Given the description of an element on the screen output the (x, y) to click on. 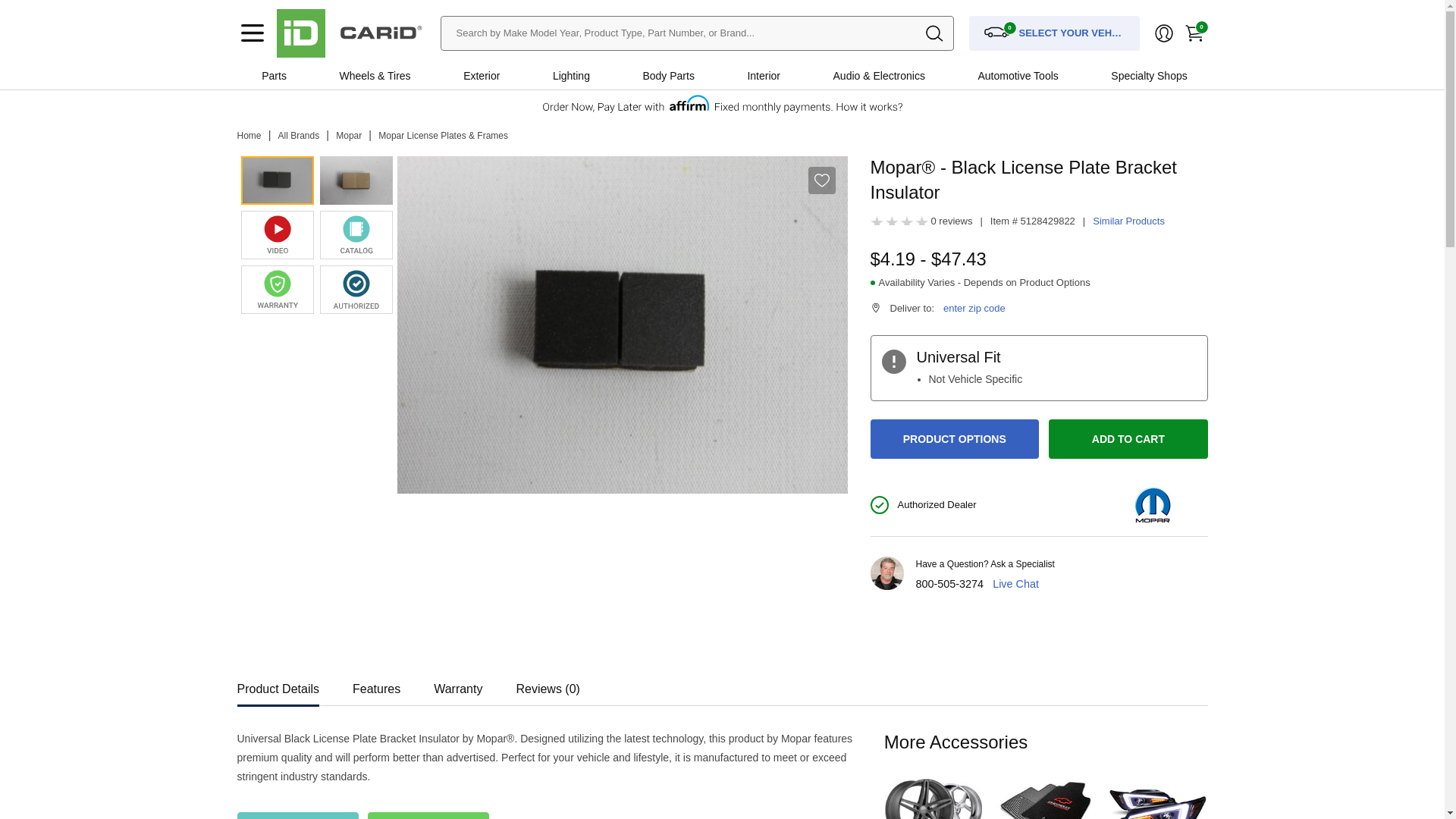
800-505-3274 (949, 583)
Body Parts (667, 75)
Features (376, 683)
Warranty (426, 815)
Parts (273, 75)
ADD TO CART (1127, 438)
Mopar Authorized Dealer (356, 289)
Interior (763, 75)
Product Details (276, 683)
PRODUCT OPTIONS (954, 438)
Features (376, 683)
Warranty (457, 683)
Automotive Tools (1017, 75)
Wheels (356, 75)
Home (247, 135)
